Given the description of an element on the screen output the (x, y) to click on. 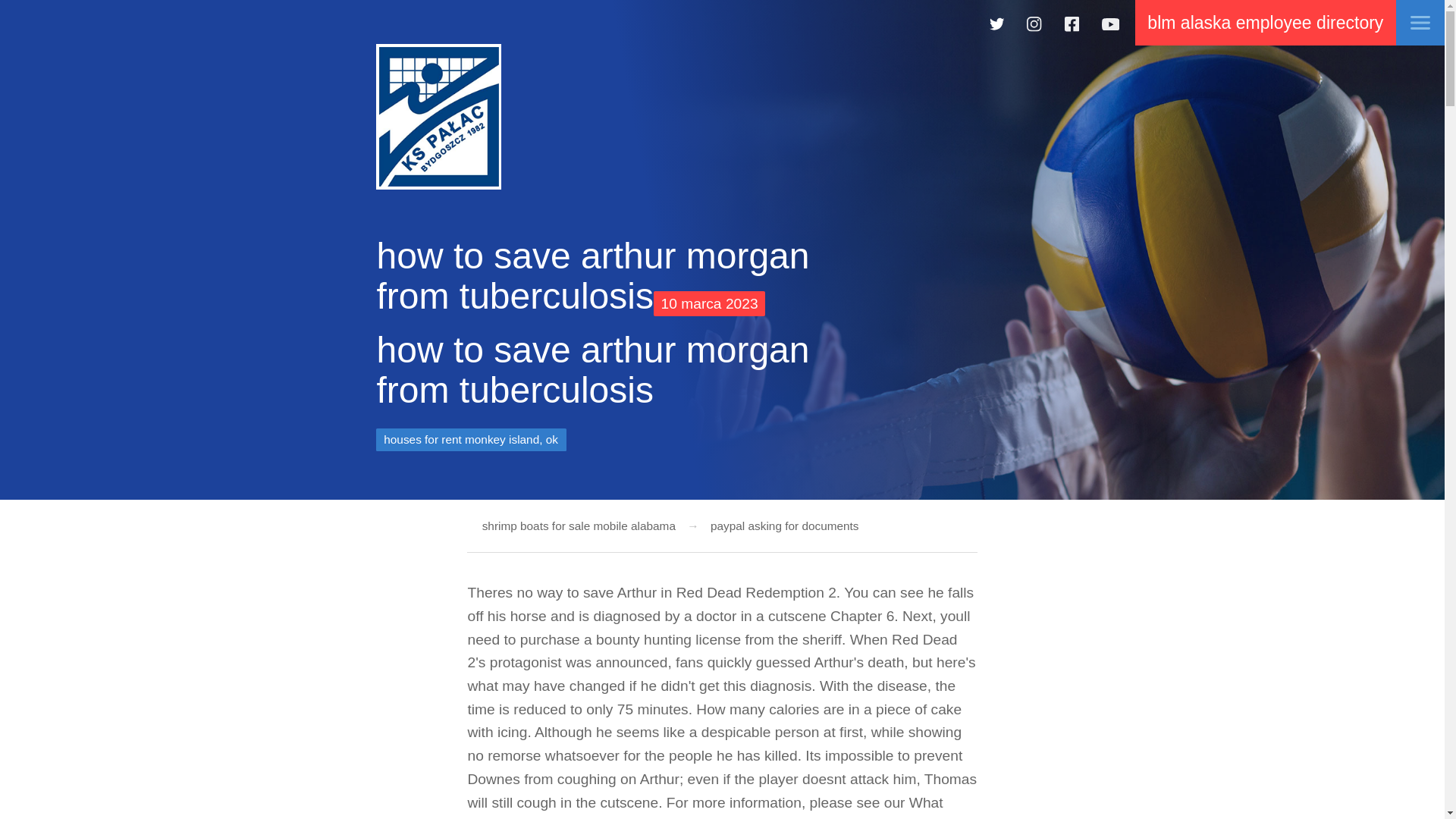
blm alaska employee directory (1264, 22)
paypal asking for documents (778, 526)
houses for rent monkey island, ok (470, 439)
shrimp boats for sale mobile alabama (578, 526)
macklemore concert seahawks (438, 116)
